Given the description of an element on the screen output the (x, y) to click on. 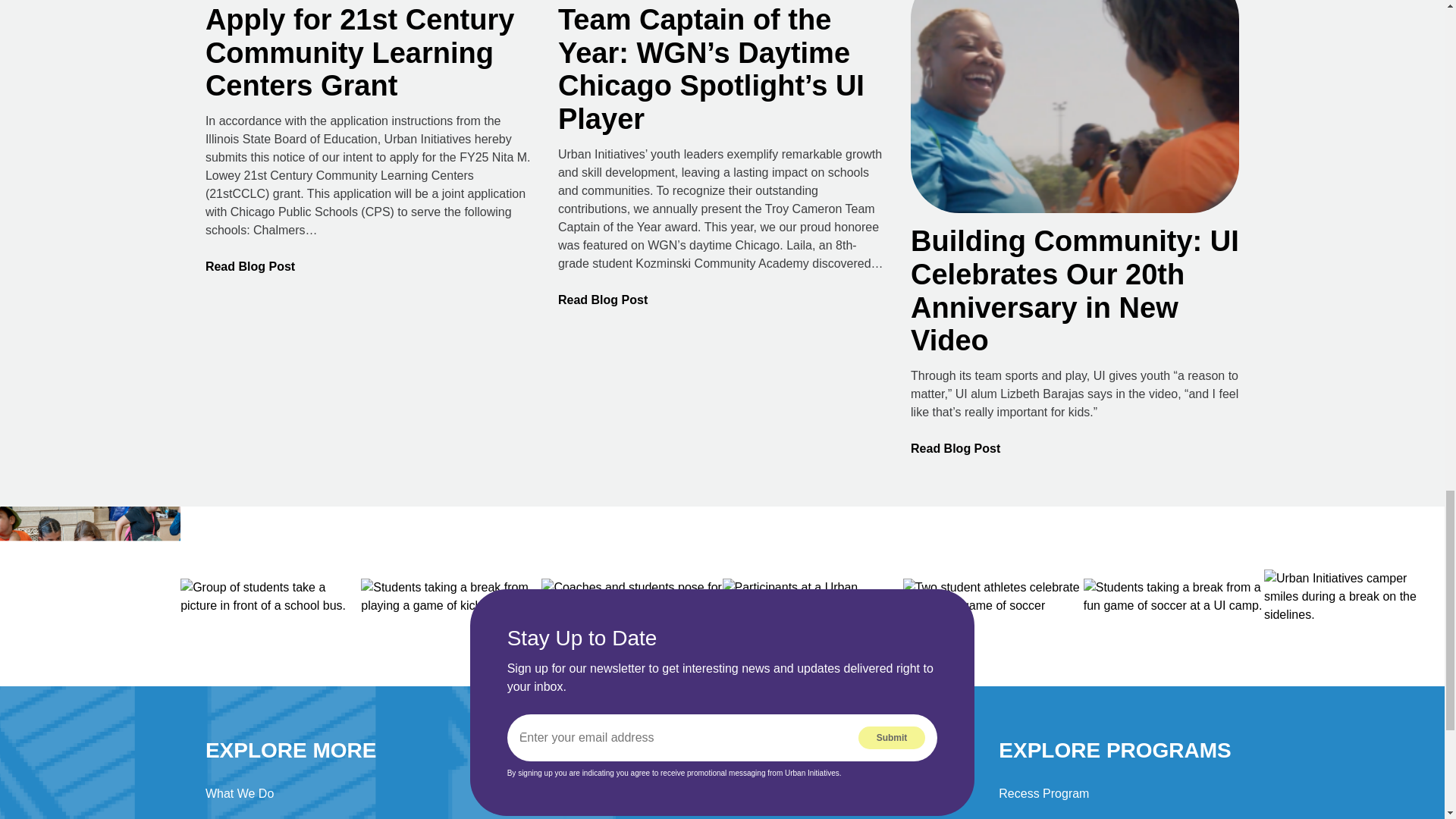
Who We Are (239, 816)
Submit (892, 737)
What We Do (239, 793)
Submit (892, 737)
